Given the description of an element on the screen output the (x, y) to click on. 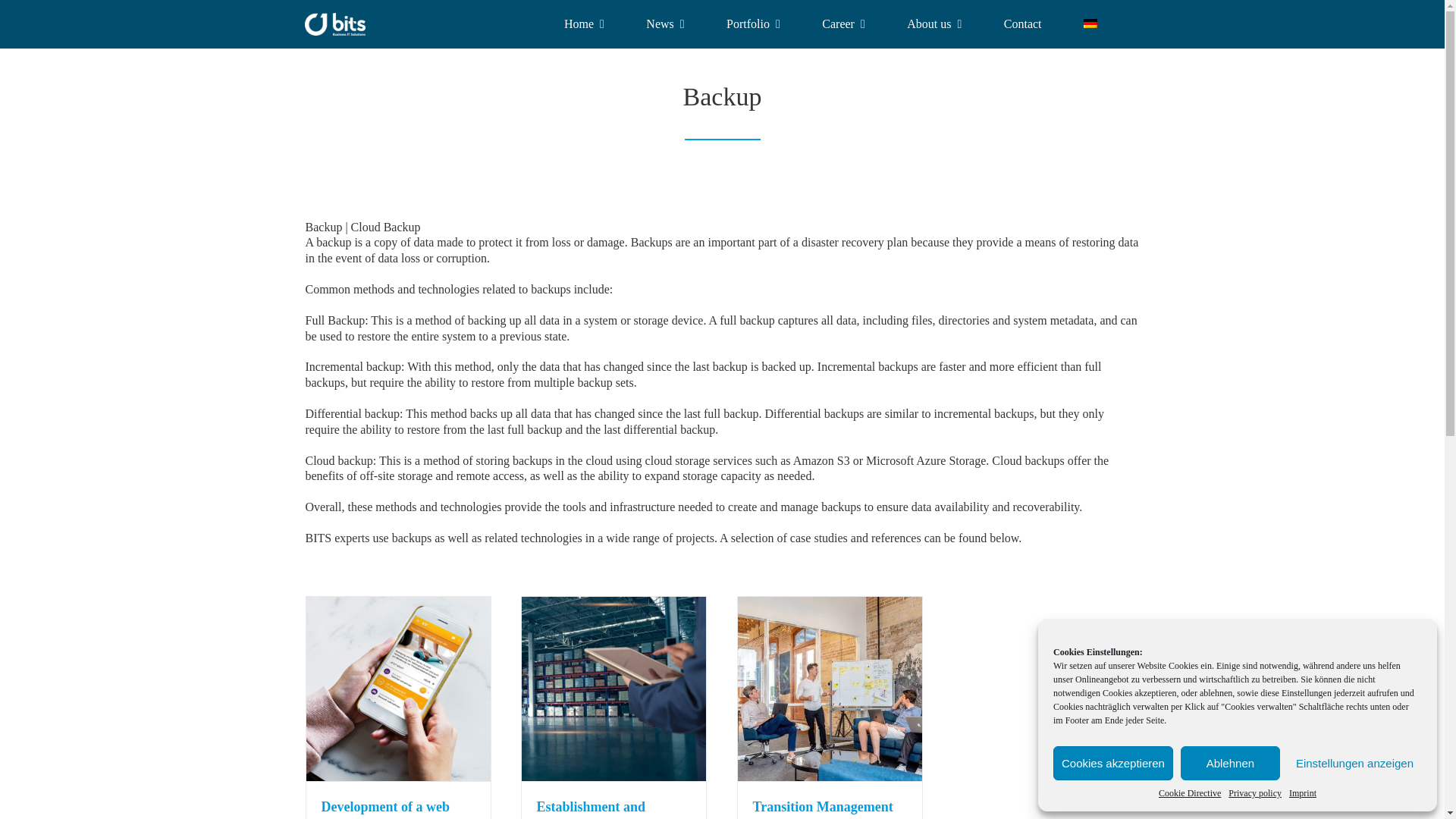
Cookie Directive (1189, 793)
Einstellungen anzeigen (1354, 763)
Portfolio (753, 24)
Imprint (1302, 793)
Cookies akzeptieren (1112, 763)
Ablehnen (1229, 763)
Privacy policy (1254, 793)
